Given the description of an element on the screen output the (x, y) to click on. 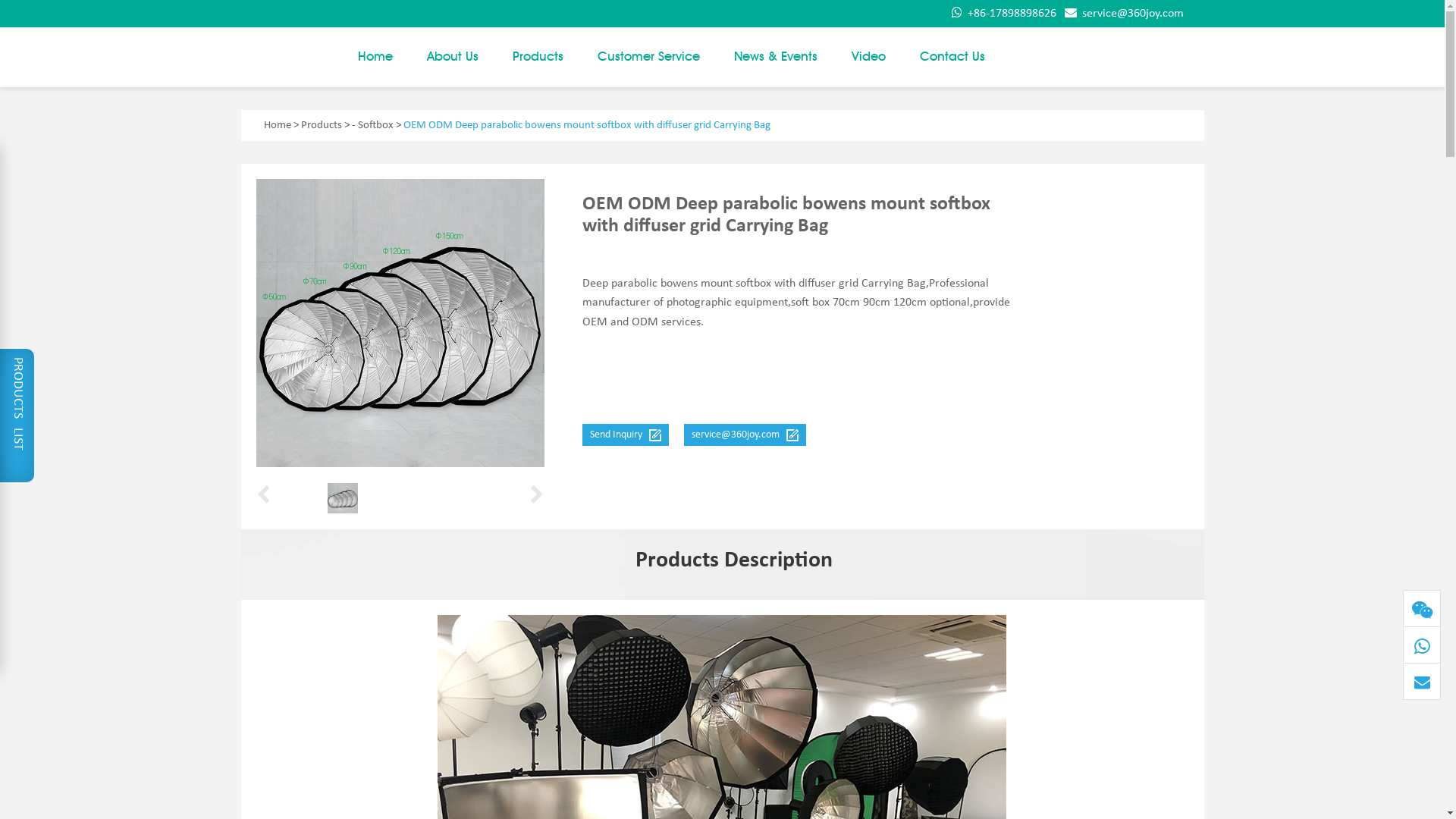
Products Element type: text (537, 64)
About Us Element type: text (451, 64)
service@360joy.com    Element type: text (745, 434)
service@360joy.com Element type: text (1123, 13)
Video Element type: text (867, 64)
Softbox Element type: text (375, 125)
Products Element type: text (320, 125)
Customer Service Element type: text (648, 64)
News & Events Element type: text (775, 64)
+86-17898898626 Element type: text (1002, 13)
Home Element type: text (277, 125)
Contact Us Element type: text (951, 64)
Send Inquiry    Element type: text (625, 434)
Home Element type: text (374, 64)
